Given the description of an element on the screen output the (x, y) to click on. 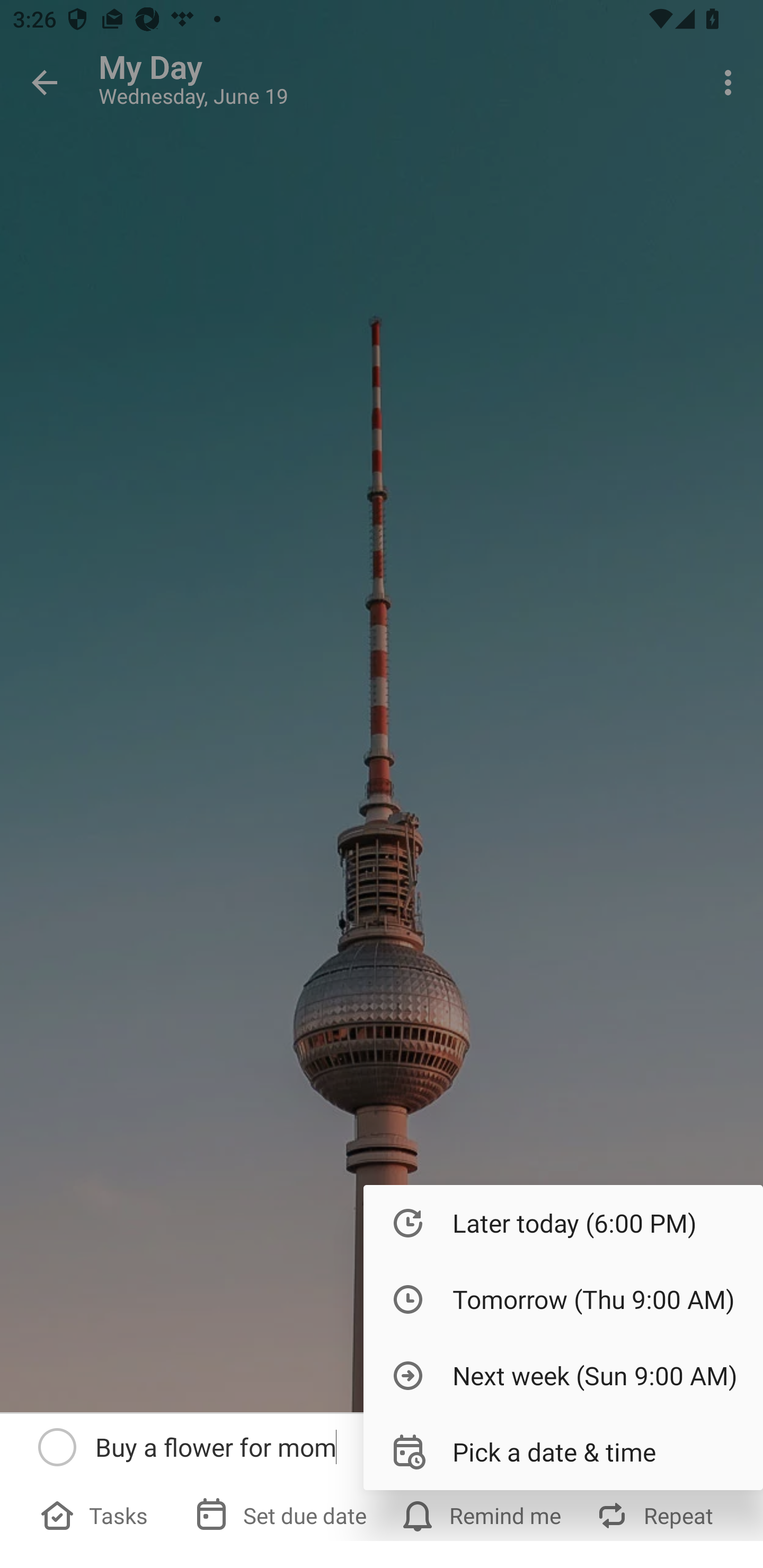
Pick a date & time4 in 4 Pick a date & time (563, 1451)
